Given the description of an element on the screen output the (x, y) to click on. 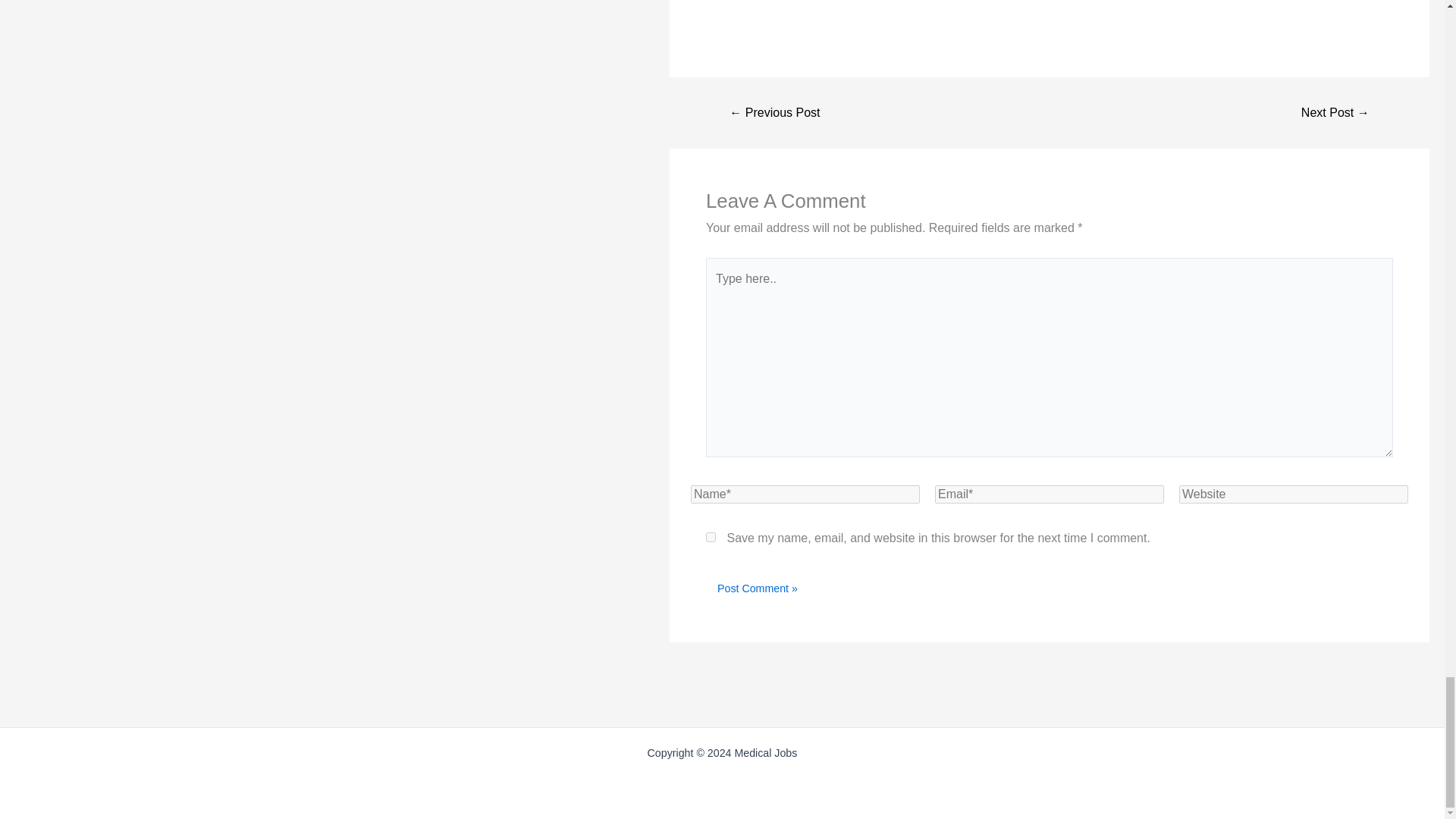
Midwife - Samaritan's Purse Vacancy Announcement (1334, 112)
yes (711, 537)
Registration Nurse - Samaritan's Purse Vacancy Announcement (774, 112)
